Given the description of an element on the screen output the (x, y) to click on. 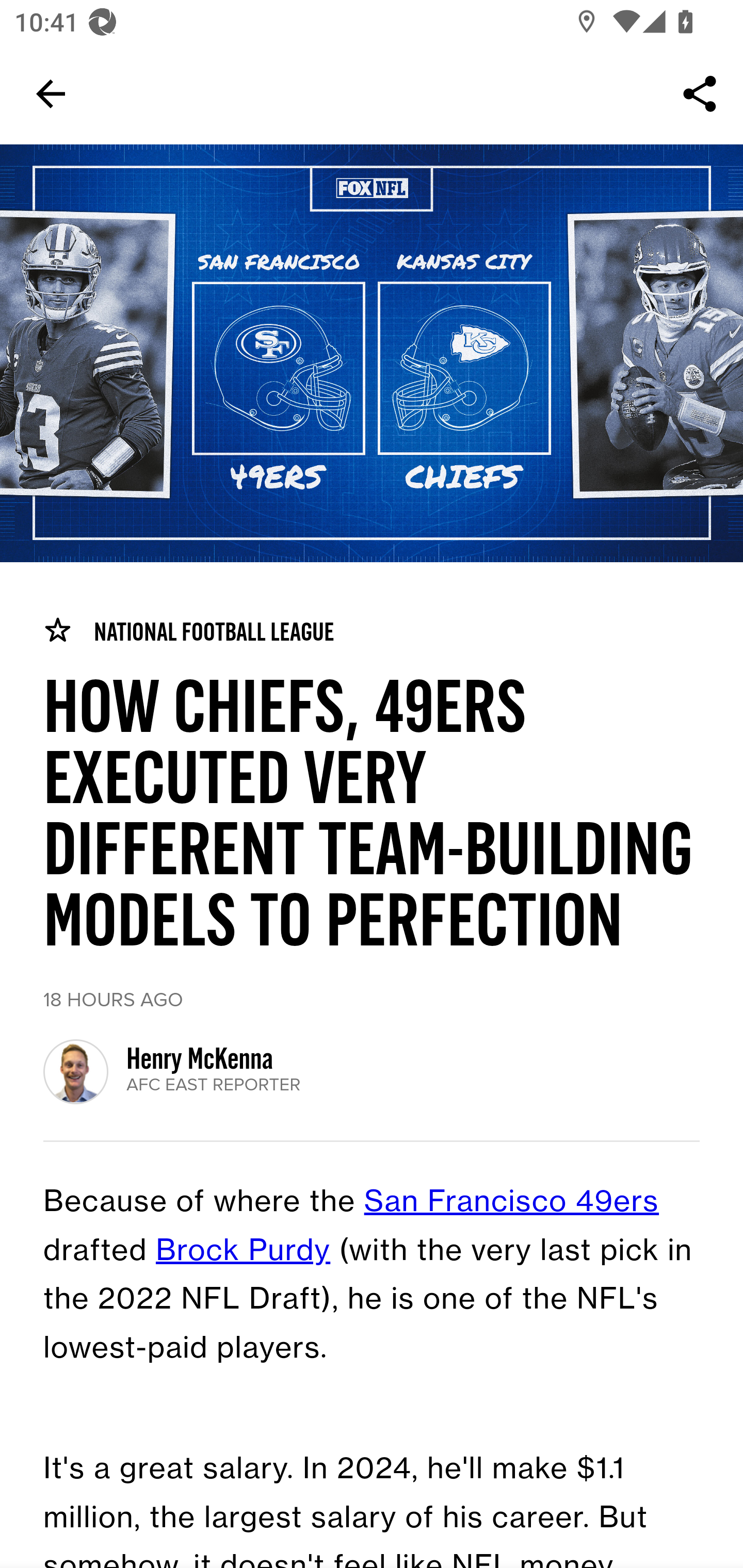
Navigate up (50, 93)
Share (699, 93)
NATIONAL FOOTBALL LEAGUE (188, 630)
San Francisco 49ers (511, 1202)
Brock Purdy (243, 1250)
